Given the description of an element on the screen output the (x, y) to click on. 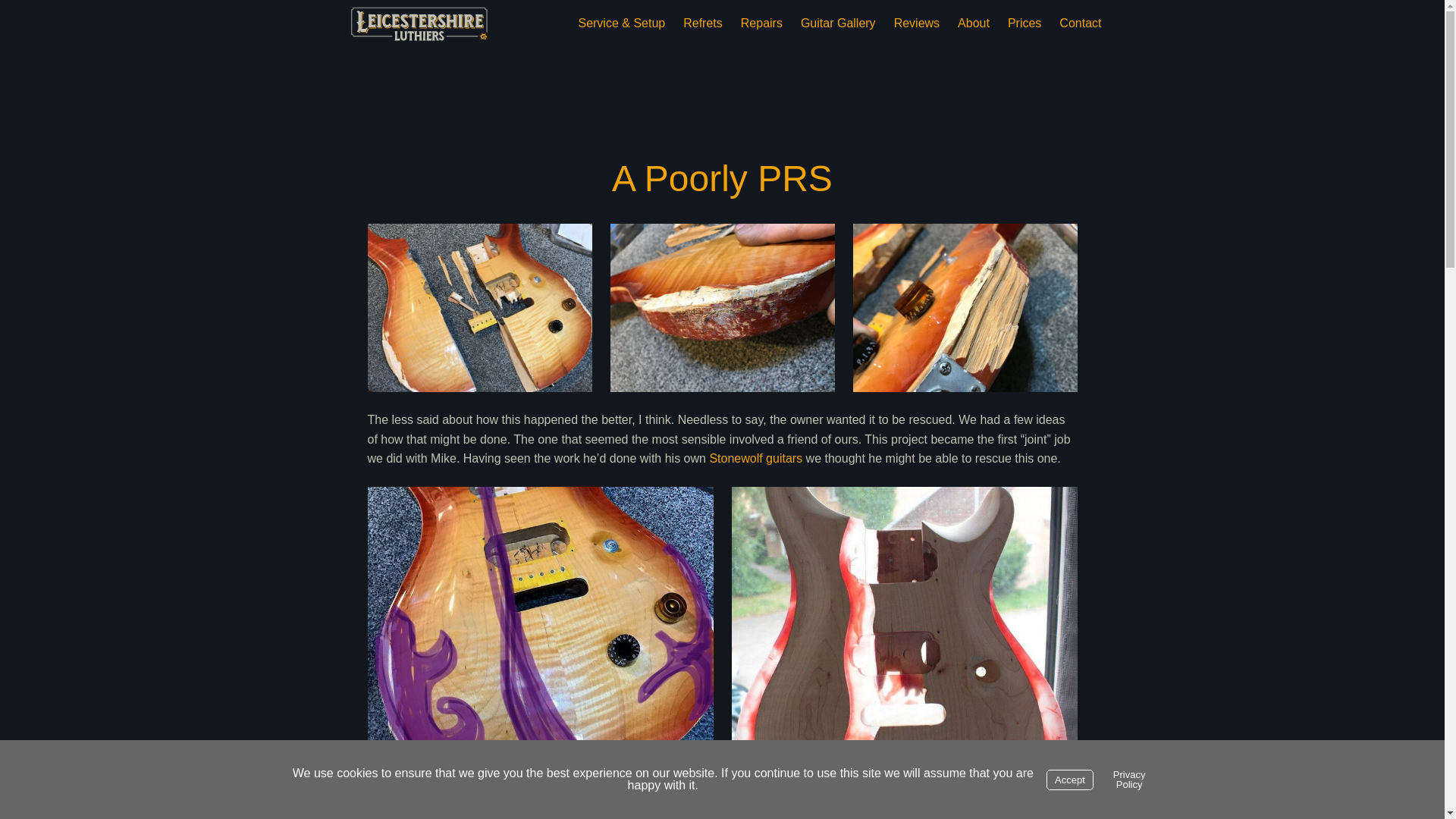
Reviews (916, 23)
Refrets (702, 23)
Stonewolf guitars (755, 458)
Guitar Gallery (838, 23)
Privacy Policy (1129, 779)
Contact (1079, 23)
About (974, 23)
Accept (1069, 779)
Repairs (762, 23)
Prices (1024, 23)
